Given the description of an element on the screen output the (x, y) to click on. 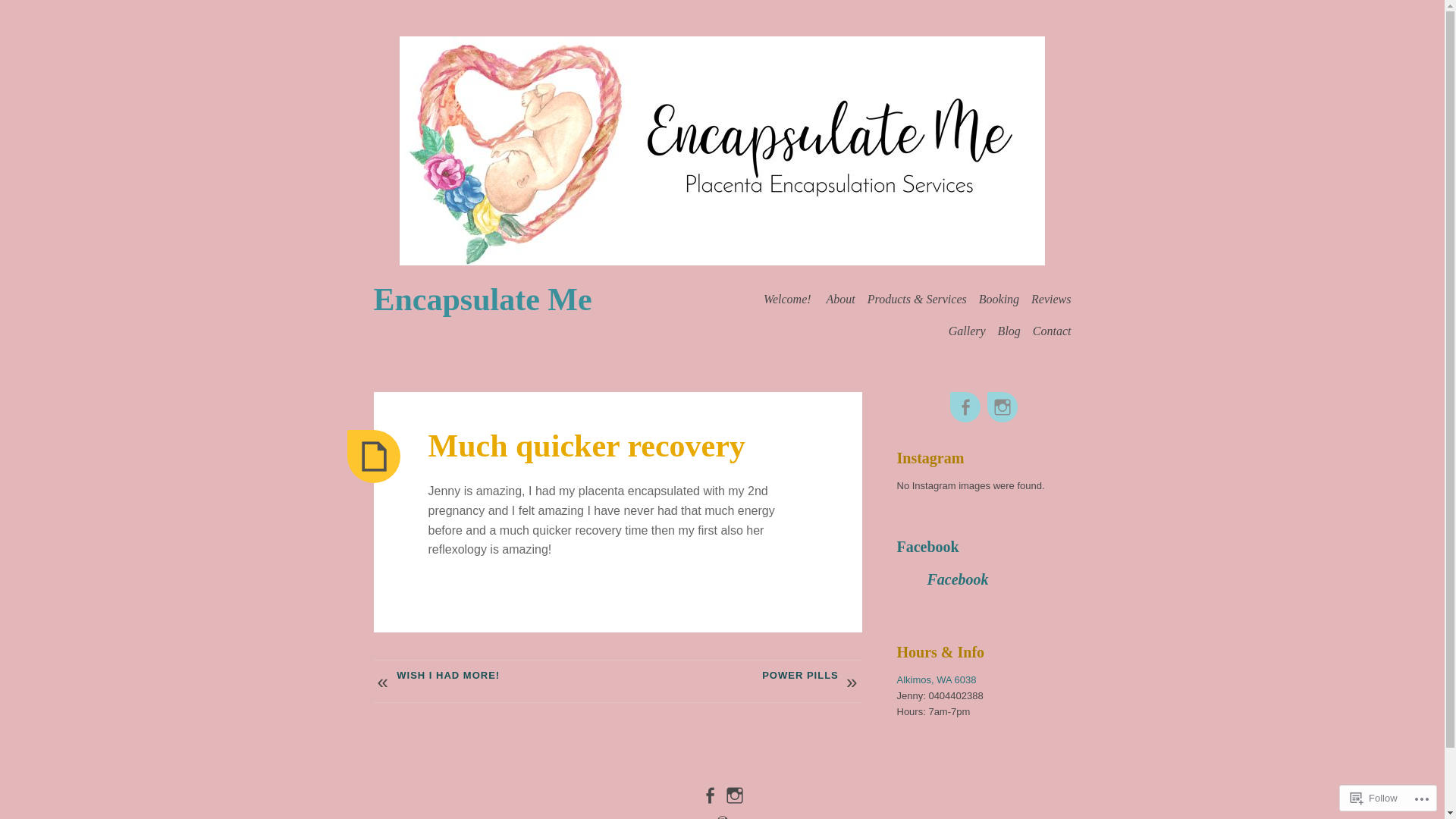
Facebook Element type: text (927, 546)
Welcome!  Element type: text (788, 299)
Follow Element type: text (1373, 797)
Much quicker recovery Element type: text (585, 445)
About Element type: text (840, 299)
Products & Services Element type: text (916, 299)
Reviews Element type: text (1050, 299)
WISH I HAD MORE! Element type: text (508, 675)
POWER PILLS Element type: text (726, 675)
Alkimos, WA 6038 Element type: text (935, 679)
Blog Element type: text (1008, 331)
Contact Element type: text (1051, 331)
Booking Element type: text (999, 299)
Gallery Element type: text (966, 331)
Facebook Element type: text (957, 579)
Encapsulate Me Element type: text (482, 299)
Much quicker recovery Element type: hover (373, 456)
